Given the description of an element on the screen output the (x, y) to click on. 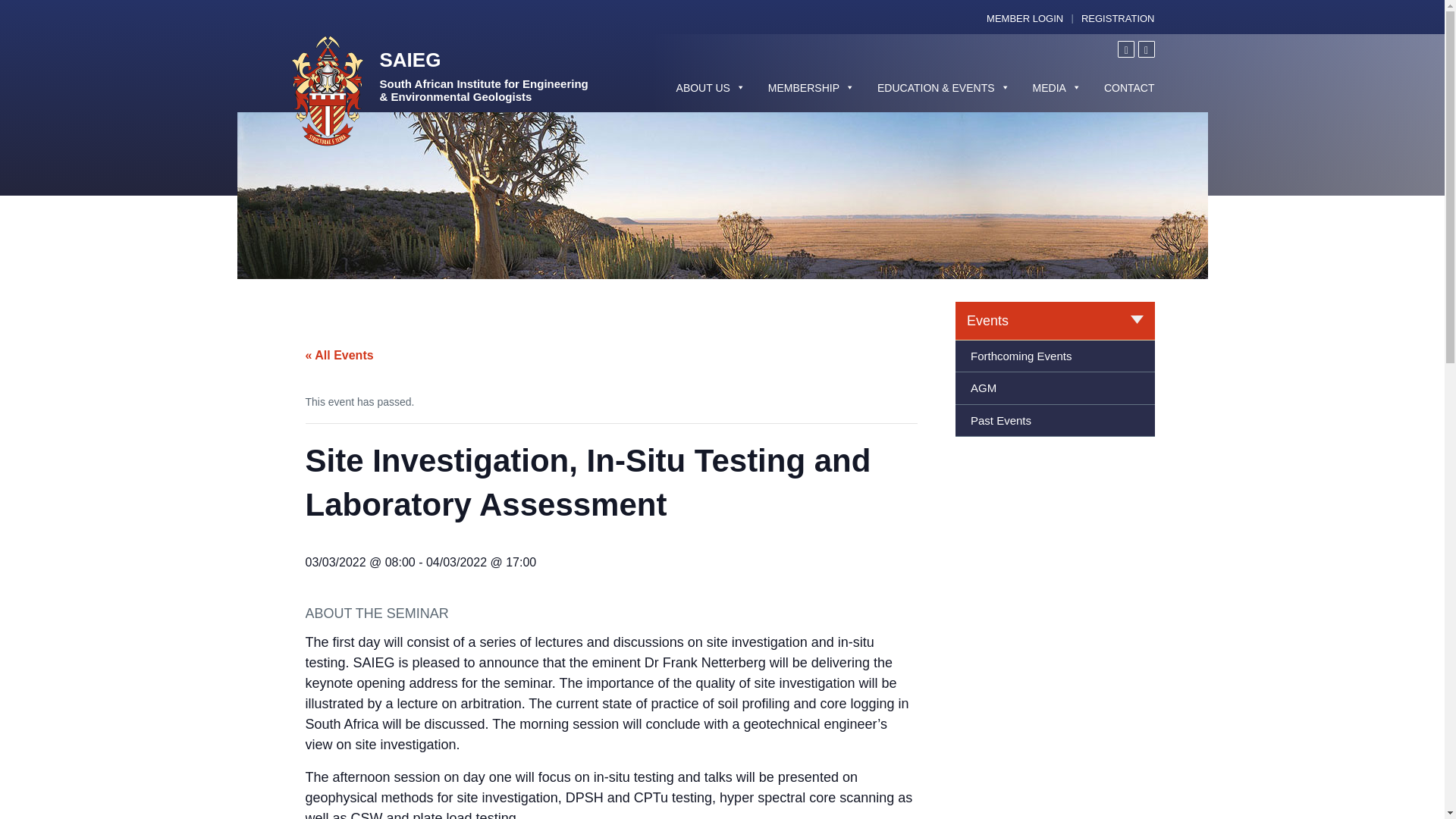
MEMBER LOGIN (1024, 18)
REGISTRATION (1117, 18)
ABOUT US (711, 87)
MEMBERSHIP (811, 87)
